Given the description of an element on the screen output the (x, y) to click on. 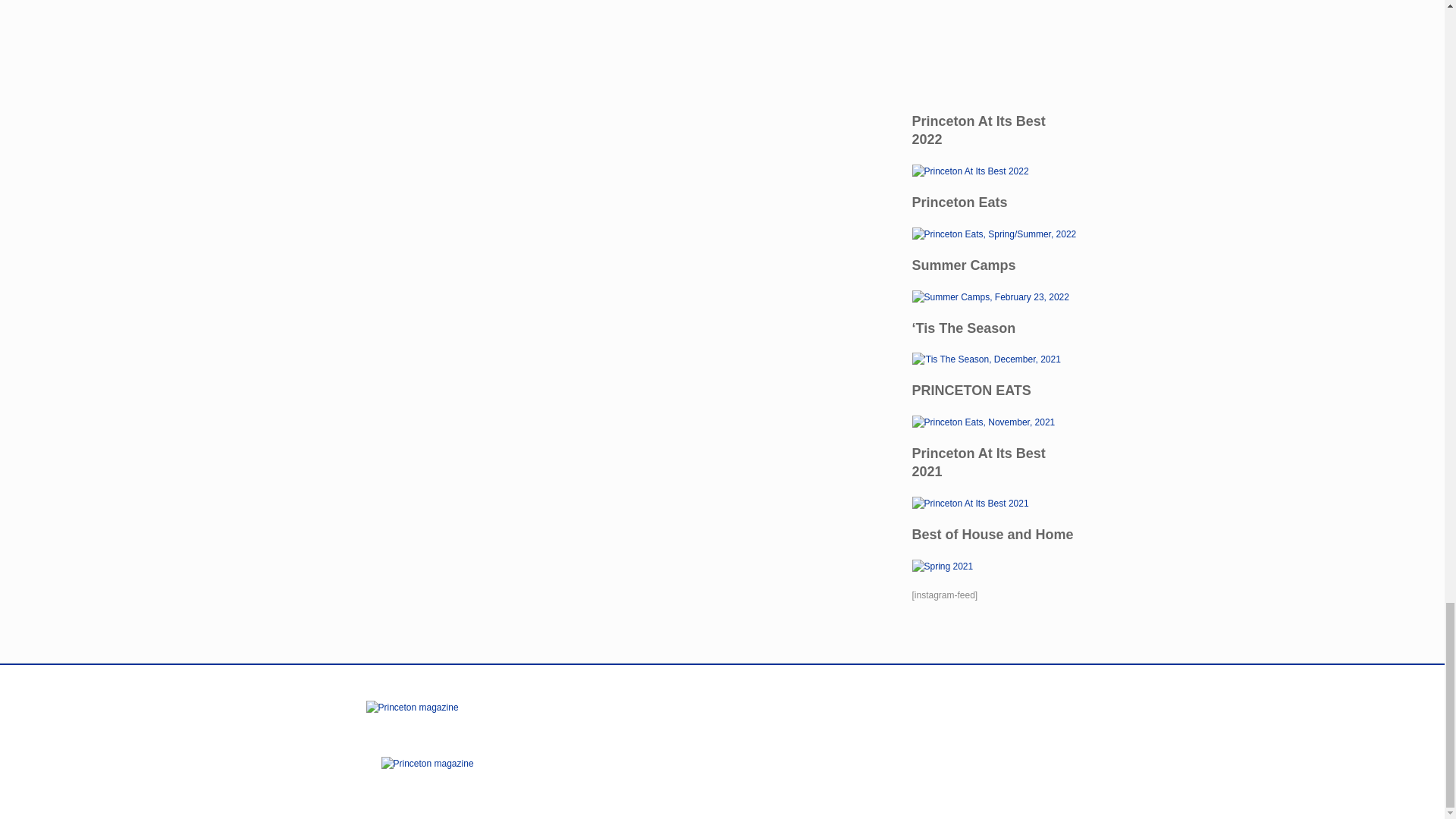
instagram (807, 715)
Home (411, 713)
instagram (822, 771)
facebook (758, 771)
facebook (742, 715)
twitter (779, 771)
Home (426, 769)
instagram (786, 715)
